Given the description of an element on the screen output the (x, y) to click on. 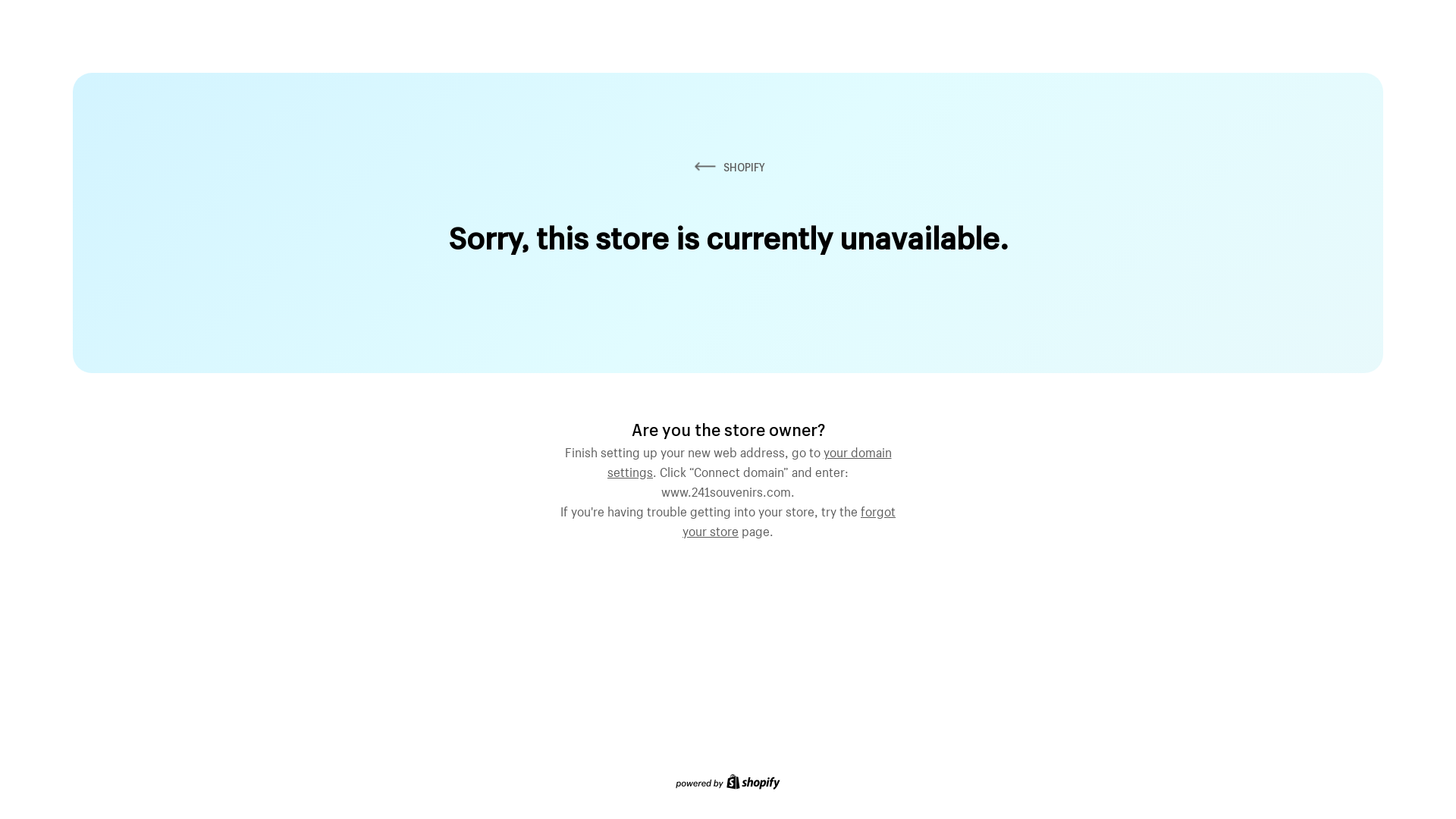
your domain settings Element type: text (749, 460)
SHOPIFY Element type: text (727, 167)
forgot your store Element type: text (788, 519)
